Given the description of an element on the screen output the (x, y) to click on. 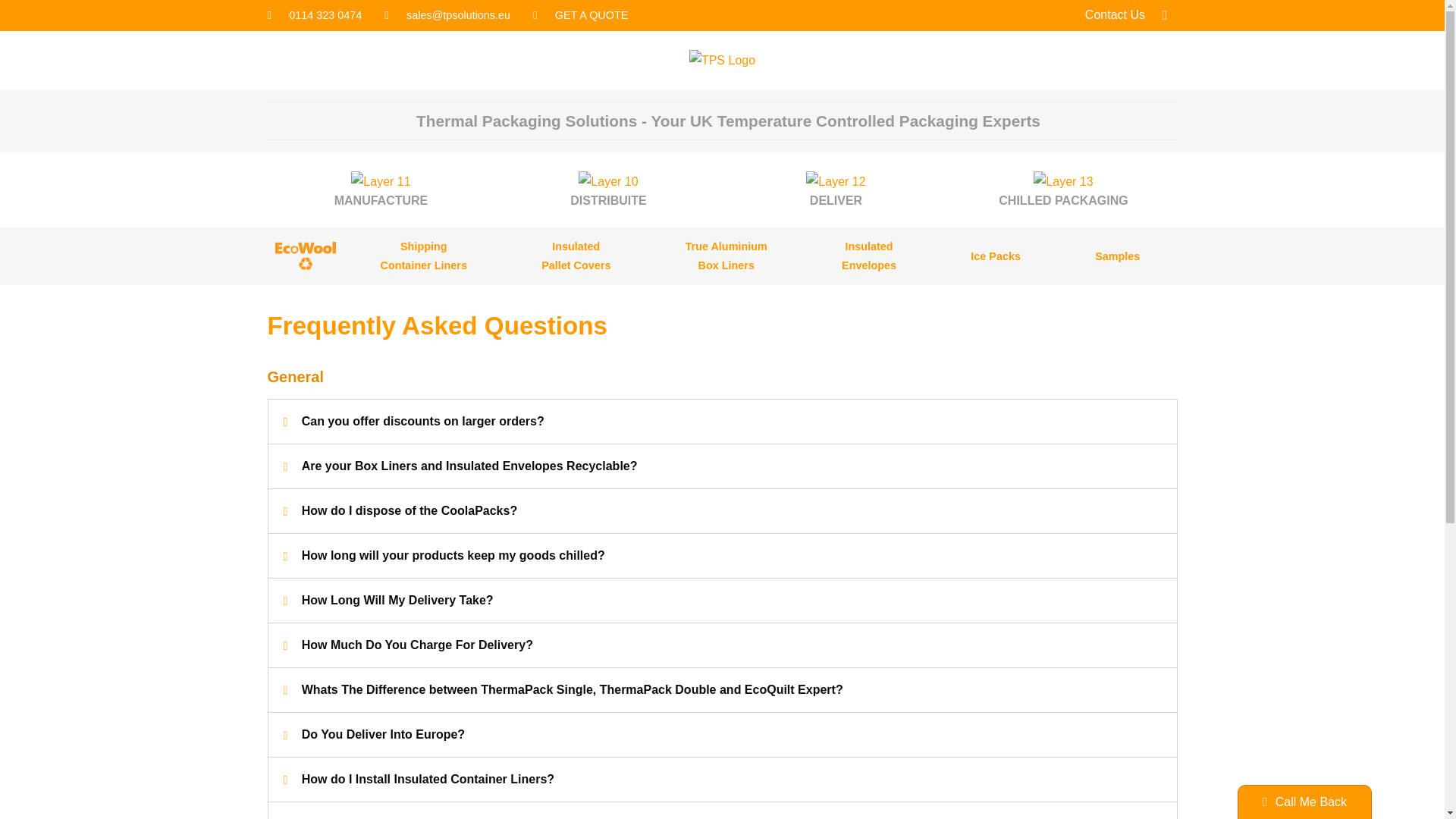
Layer 10 (607, 181)
Layer 13 (1063, 181)
TPS Logo (422, 256)
Contact Us (721, 60)
GET A QUOTE (726, 256)
Layer 11 (1112, 14)
0114 323 0474 (304, 256)
